Given the description of an element on the screen output the (x, y) to click on. 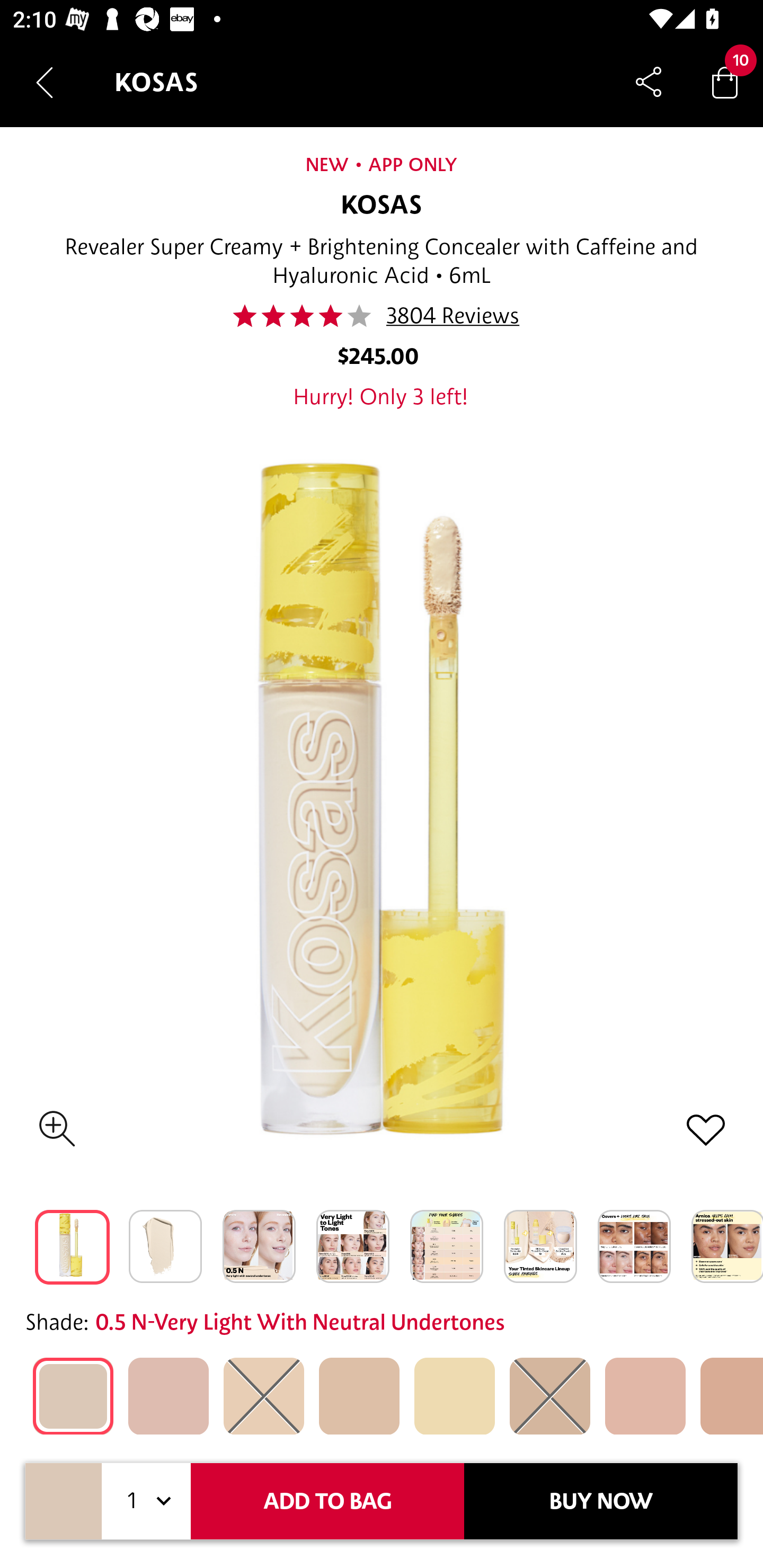
Navigate up (44, 82)
Share (648, 81)
Bag (724, 81)
KOSAS (381, 205)
40.0 3804 Reviews (381, 315)
1 (145, 1500)
ADD TO BAG (326, 1500)
BUY NOW (600, 1500)
